Given the description of an element on the screen output the (x, y) to click on. 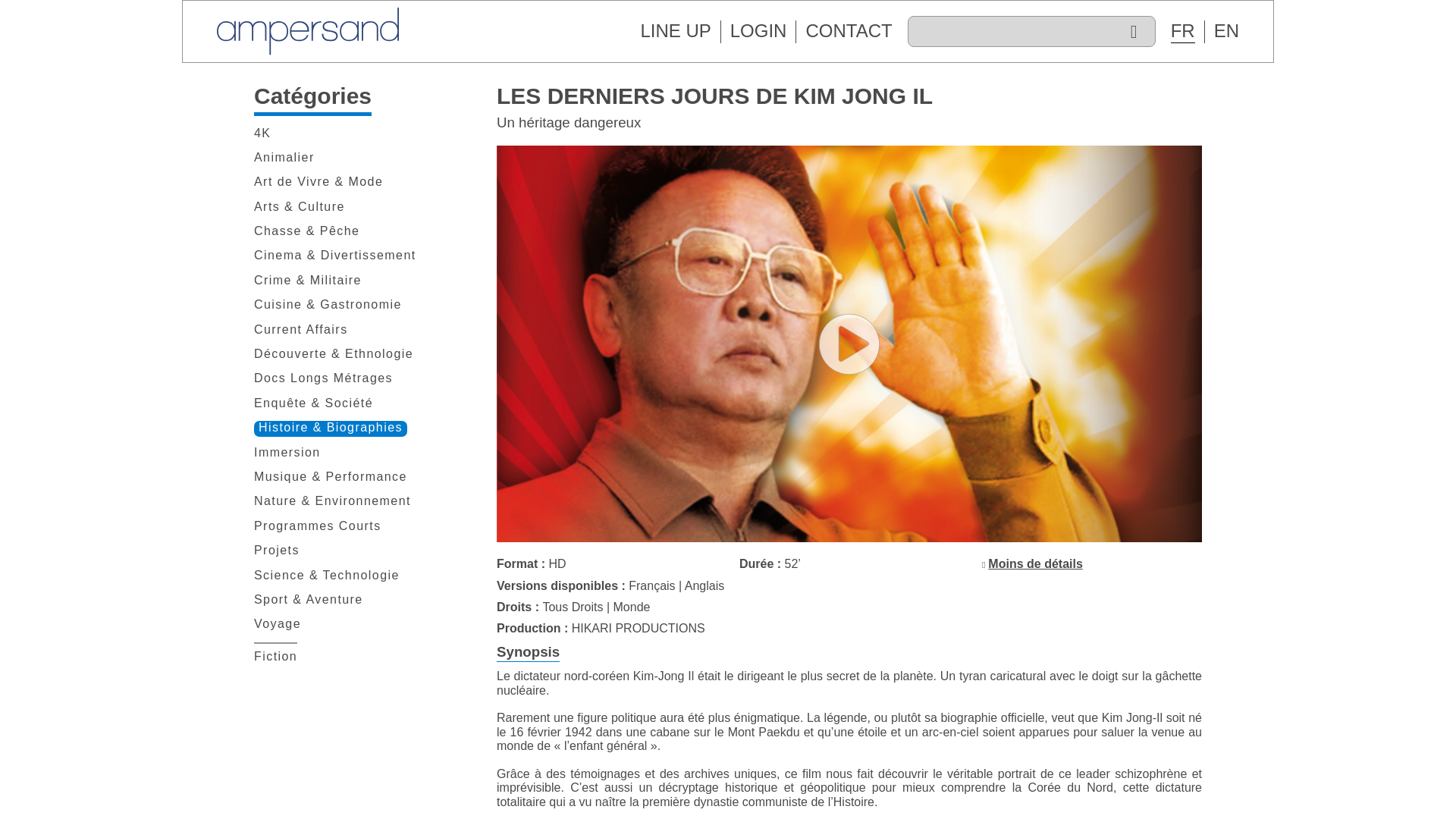
CONTACT (848, 30)
Fiction (275, 657)
LOGIN (758, 30)
Immersion (286, 453)
Programmes Courts (317, 526)
Projets (276, 550)
Voyage (277, 624)
Animalier (283, 158)
Current Affairs (300, 330)
4K (261, 133)
